Given the description of an element on the screen output the (x, y) to click on. 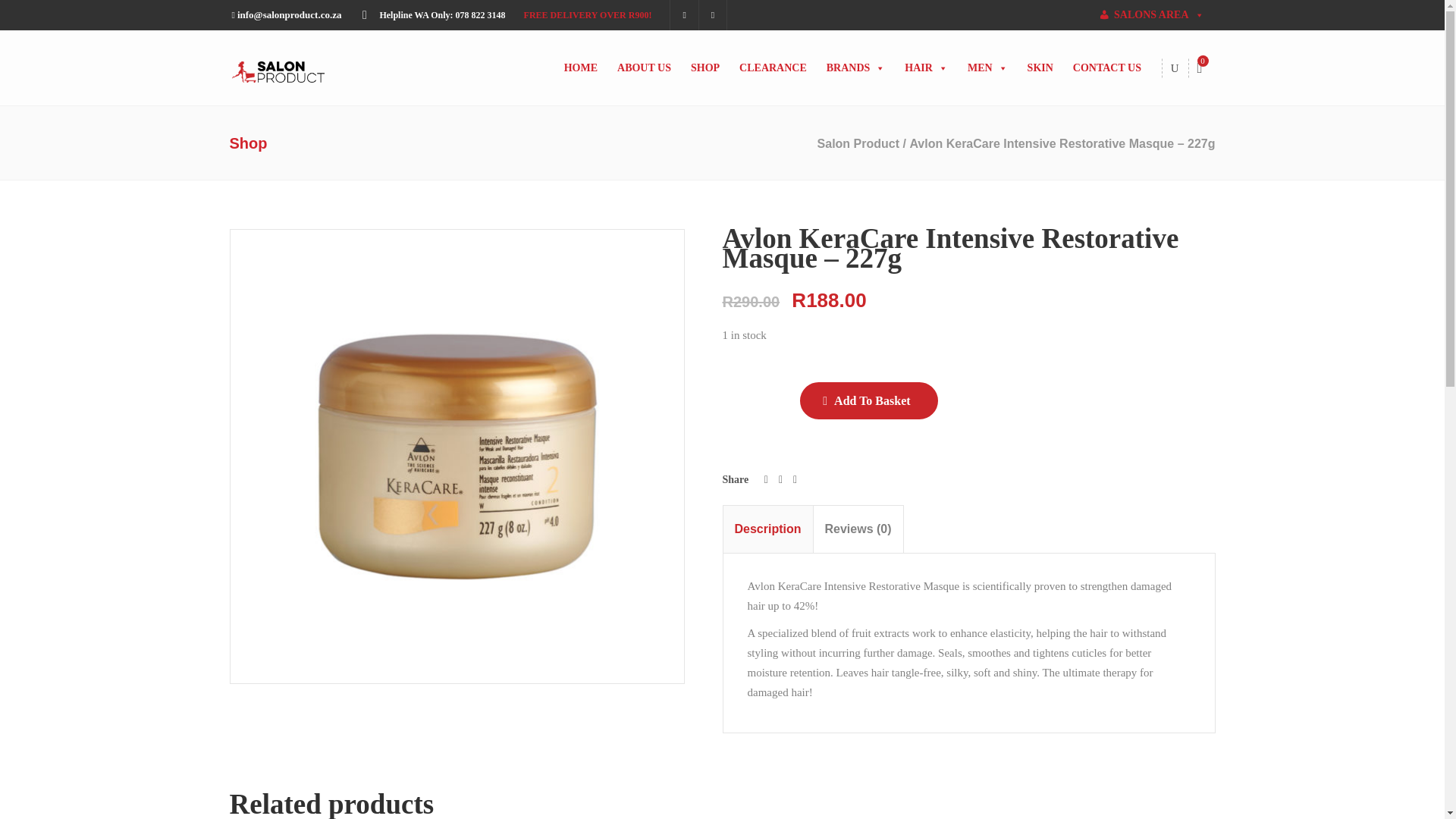
HOME (580, 68)
HAIR (925, 68)
CLEARANCE (772, 68)
SALONS AREA (1150, 15)
ABOUT US (644, 68)
BRANDS (855, 68)
SHOP (704, 68)
